Given the description of an element on the screen output the (x, y) to click on. 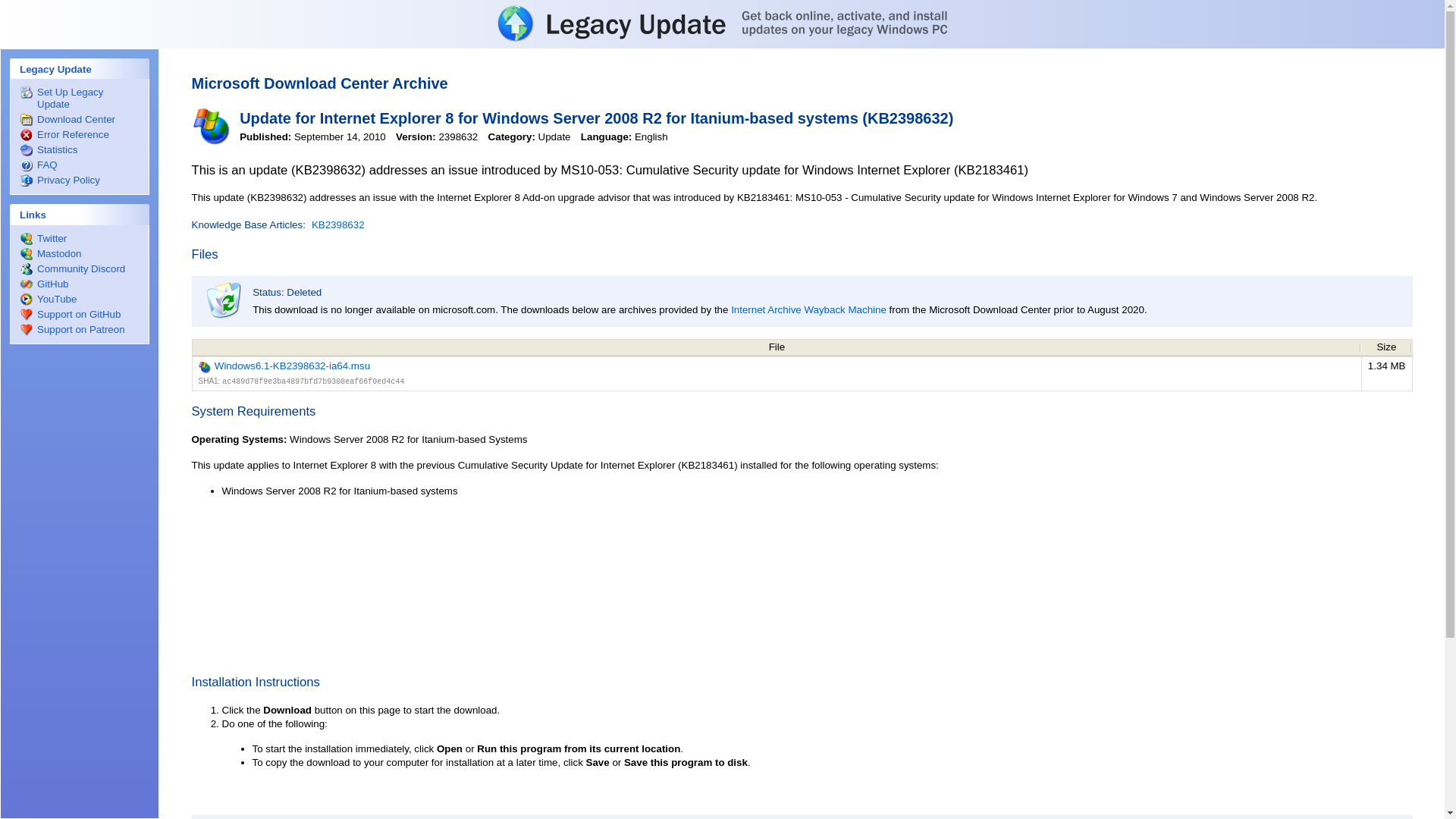
YouTube (79, 299)
Set Up Legacy Update (79, 98)
FAQ (79, 164)
Error Reference (79, 134)
Download Center (79, 119)
GitHub (79, 284)
Mastodon (79, 254)
Microsoft Download Center Archive (318, 83)
Twitter (79, 238)
